Given the description of an element on the screen output the (x, y) to click on. 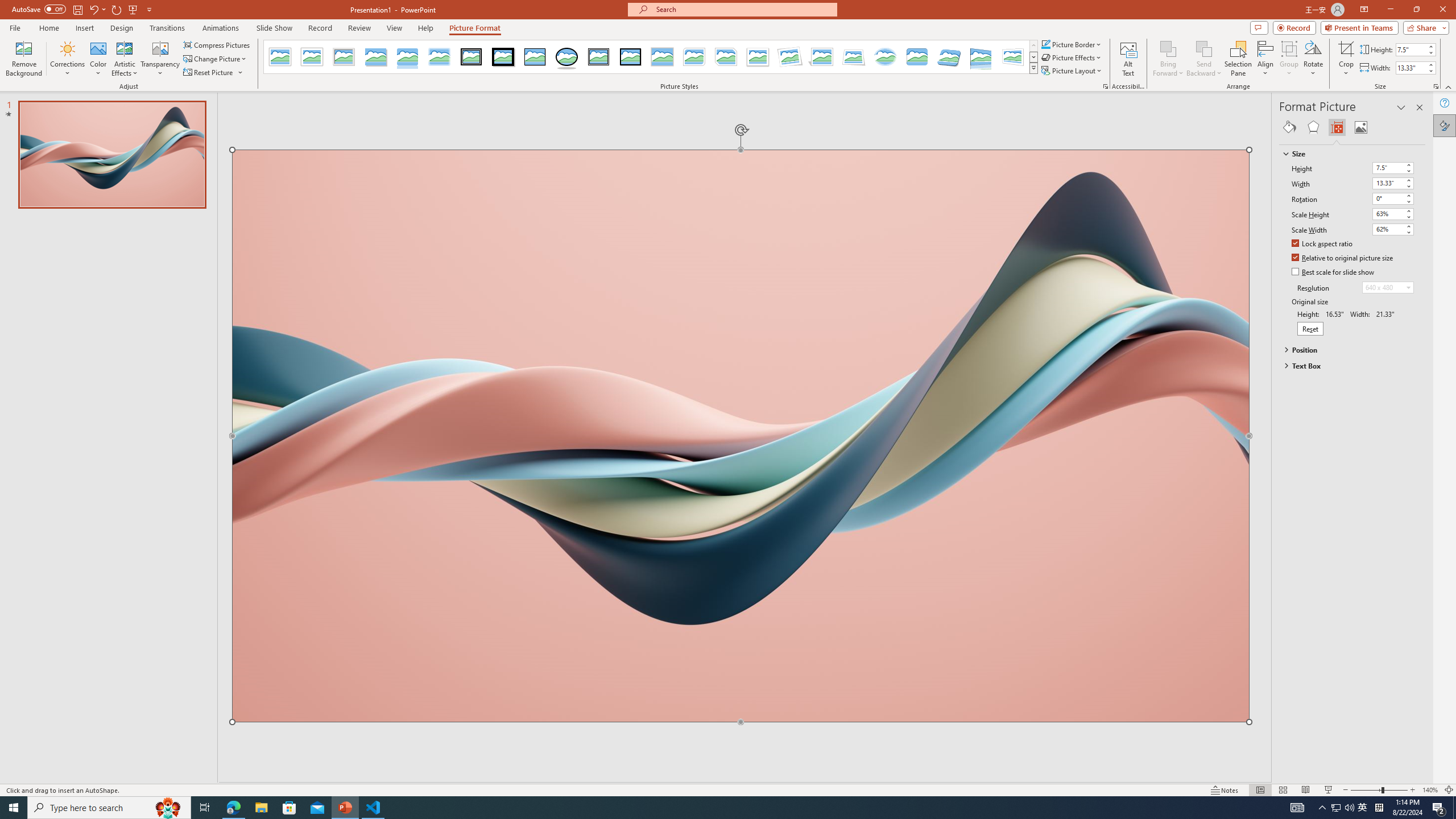
Size (1347, 153)
Shape Height (1410, 49)
Relative to original picture size (1342, 258)
Size & Properties (1336, 126)
Perspective Shadow, White (821, 56)
Scale Width (1393, 229)
Snip Diagonal Corner, White (726, 56)
Bevel Perspective Left, White (1013, 56)
Crop (1345, 58)
More (1430, 64)
